Given the description of an element on the screen output the (x, y) to click on. 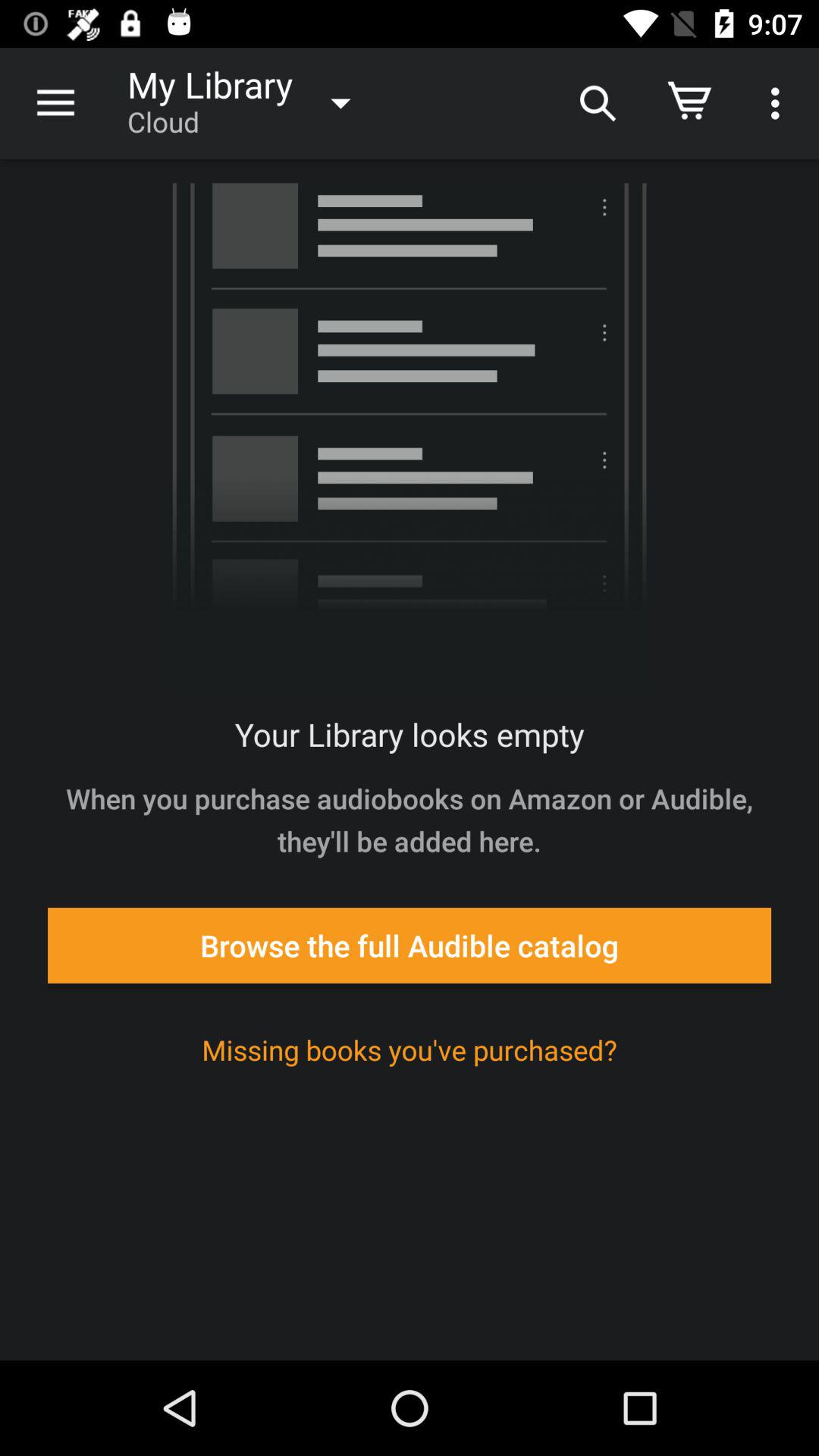
launch icon next to the my library (595, 103)
